Given the description of an element on the screen output the (x, y) to click on. 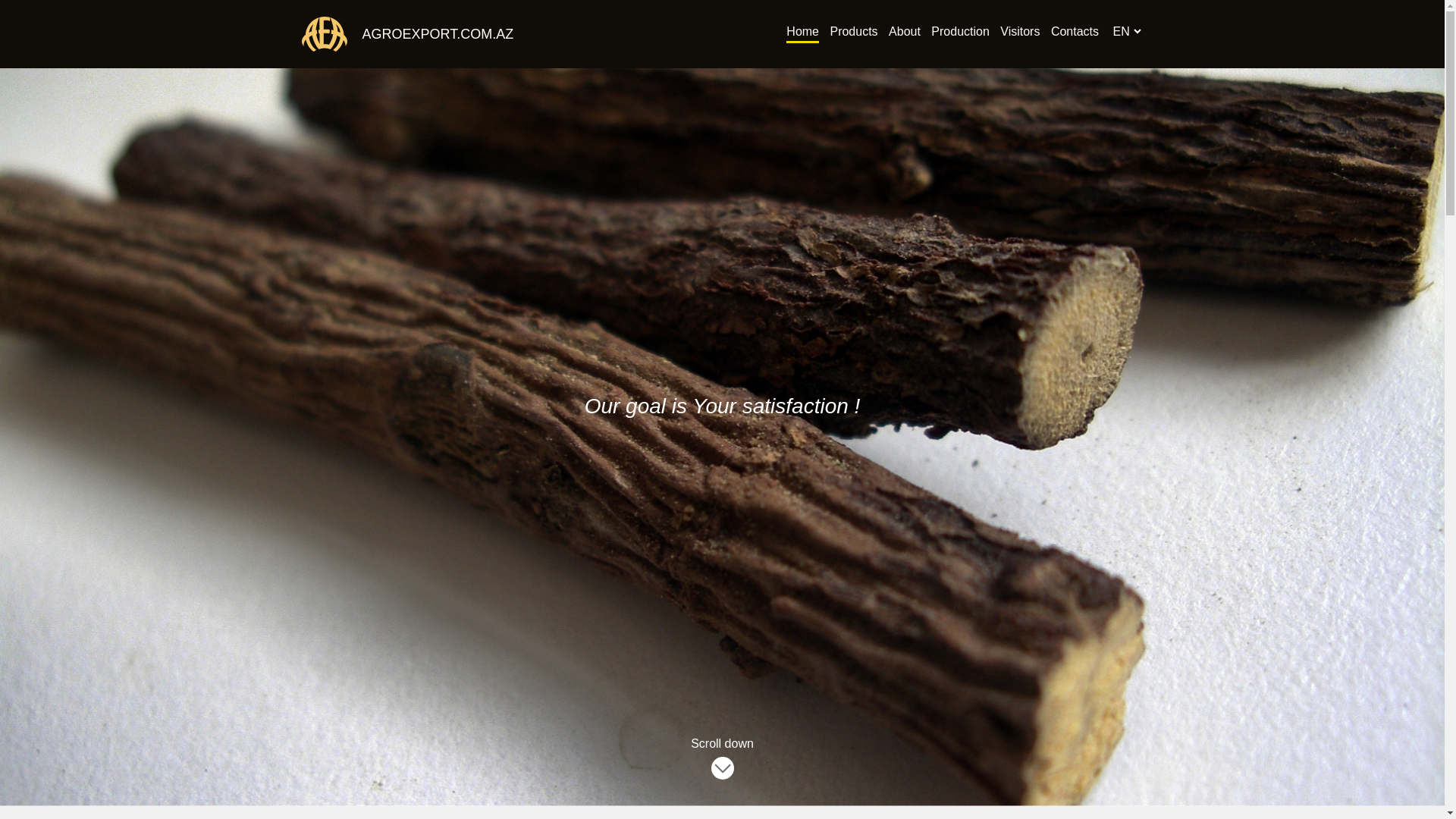
About Element type: text (904, 32)
Contacts Element type: text (1074, 32)
AGROEXPORT.COM.AZ Element type: text (430, 34)
Products Element type: text (853, 32)
Visitors Element type: text (1019, 32)
Home Element type: text (802, 32)
Production Element type: text (960, 32)
